Given the description of an element on the screen output the (x, y) to click on. 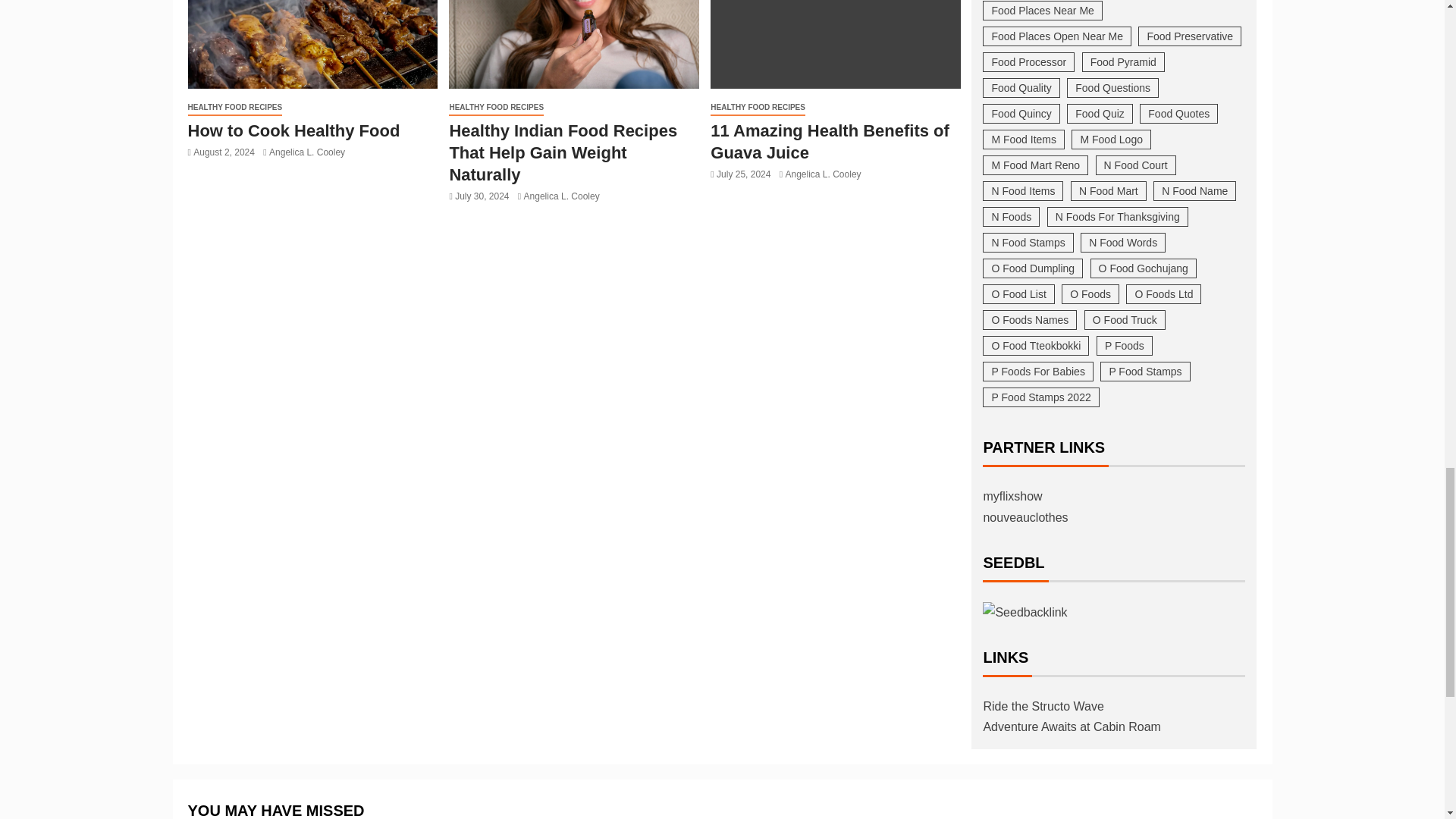
Healthy Indian Food Recipes That Help Gain Weight Naturally (573, 44)
Angelica L. Cooley (307, 152)
How to Cook Healthy Food (312, 44)
How to Cook Healthy Food (293, 130)
HEALTHY FOOD RECIPES (234, 107)
11 Amazing Health Benefits of Guava Juice (835, 44)
